Given the description of an element on the screen output the (x, y) to click on. 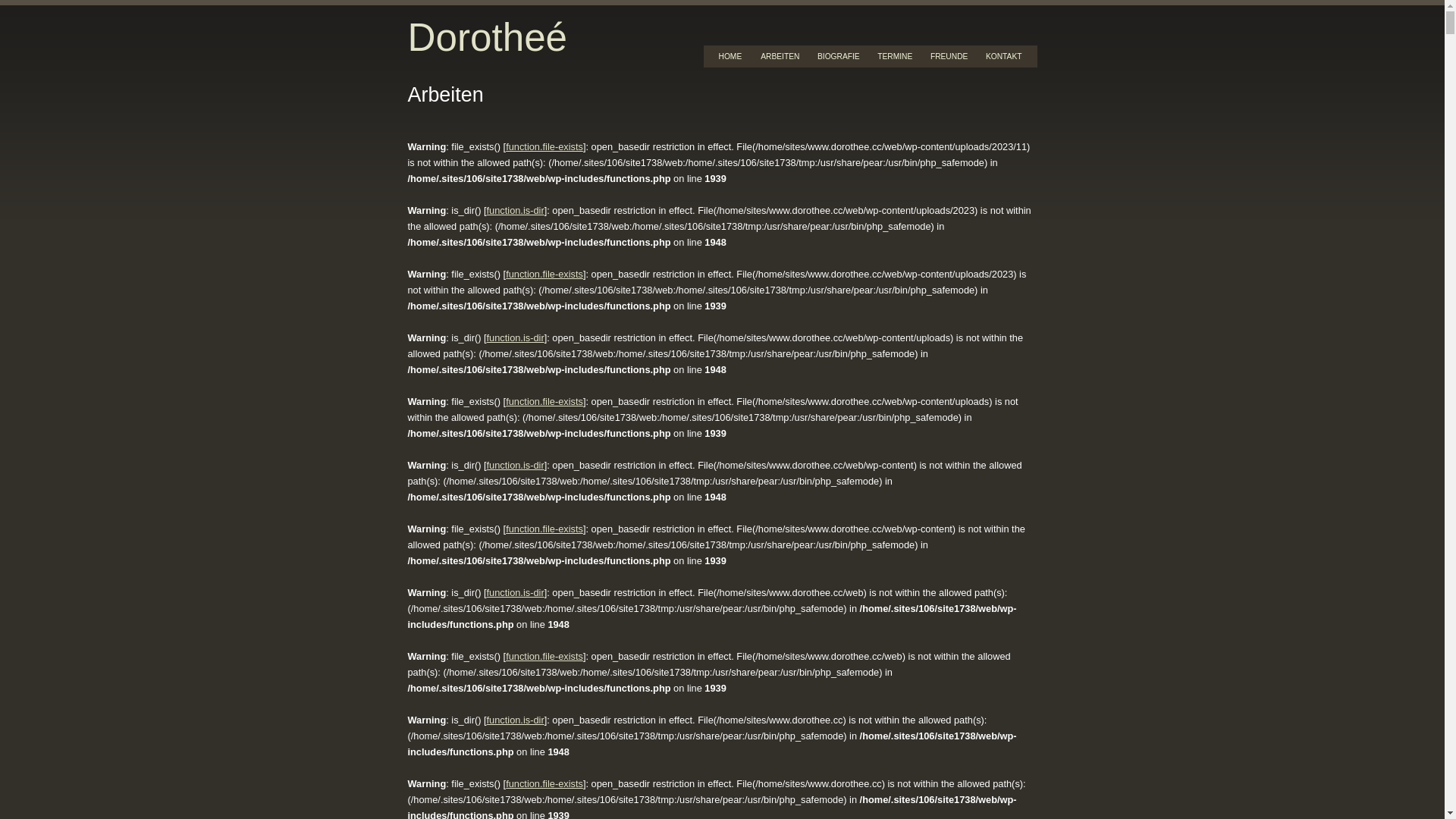
function.is-dir Element type: text (515, 210)
function.is-dir Element type: text (515, 464)
KONTAKT Element type: text (1003, 56)
function.file-exists Element type: text (544, 528)
function.file-exists Element type: text (544, 656)
function.file-exists Element type: text (544, 146)
TERMINE Element type: text (894, 56)
function.file-exists Element type: text (544, 401)
function.is-dir Element type: text (515, 592)
BIOGRAFIE Element type: text (838, 56)
function.is-dir Element type: text (515, 337)
function.file-exists Element type: text (544, 273)
HOME Element type: text (730, 56)
function.file-exists Element type: text (544, 783)
FREUNDE Element type: text (948, 56)
function.is-dir Element type: text (515, 719)
ARBEITEN Element type: text (779, 56)
